Given the description of an element on the screen output the (x, y) to click on. 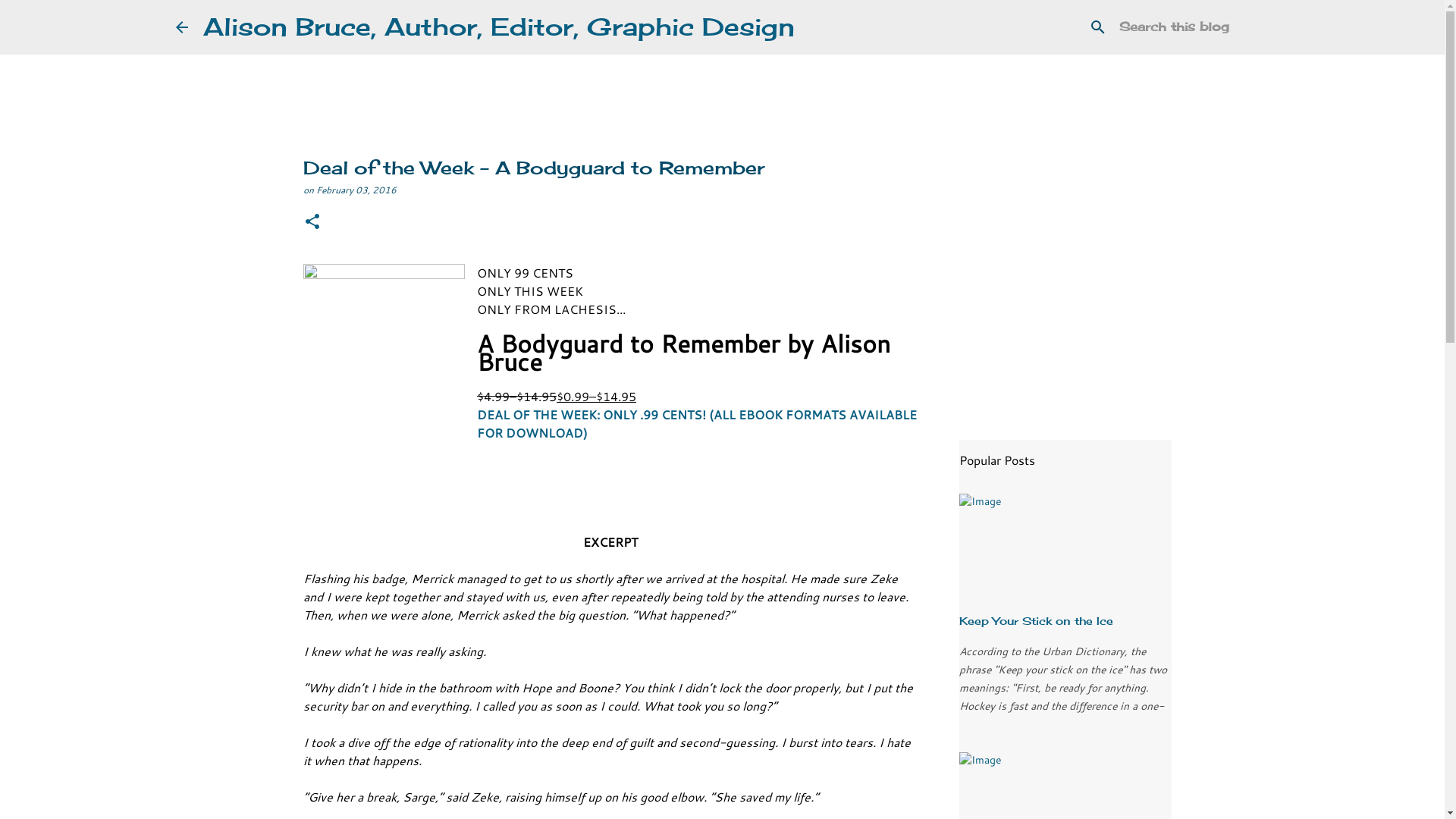
February 03, 2016 Element type: text (356, 189)
Keep Your Stick on the Ice Element type: text (1036, 620)
Alison Bruce, Author, Editor, Graphic Design Element type: text (498, 26)
